Given the description of an element on the screen output the (x, y) to click on. 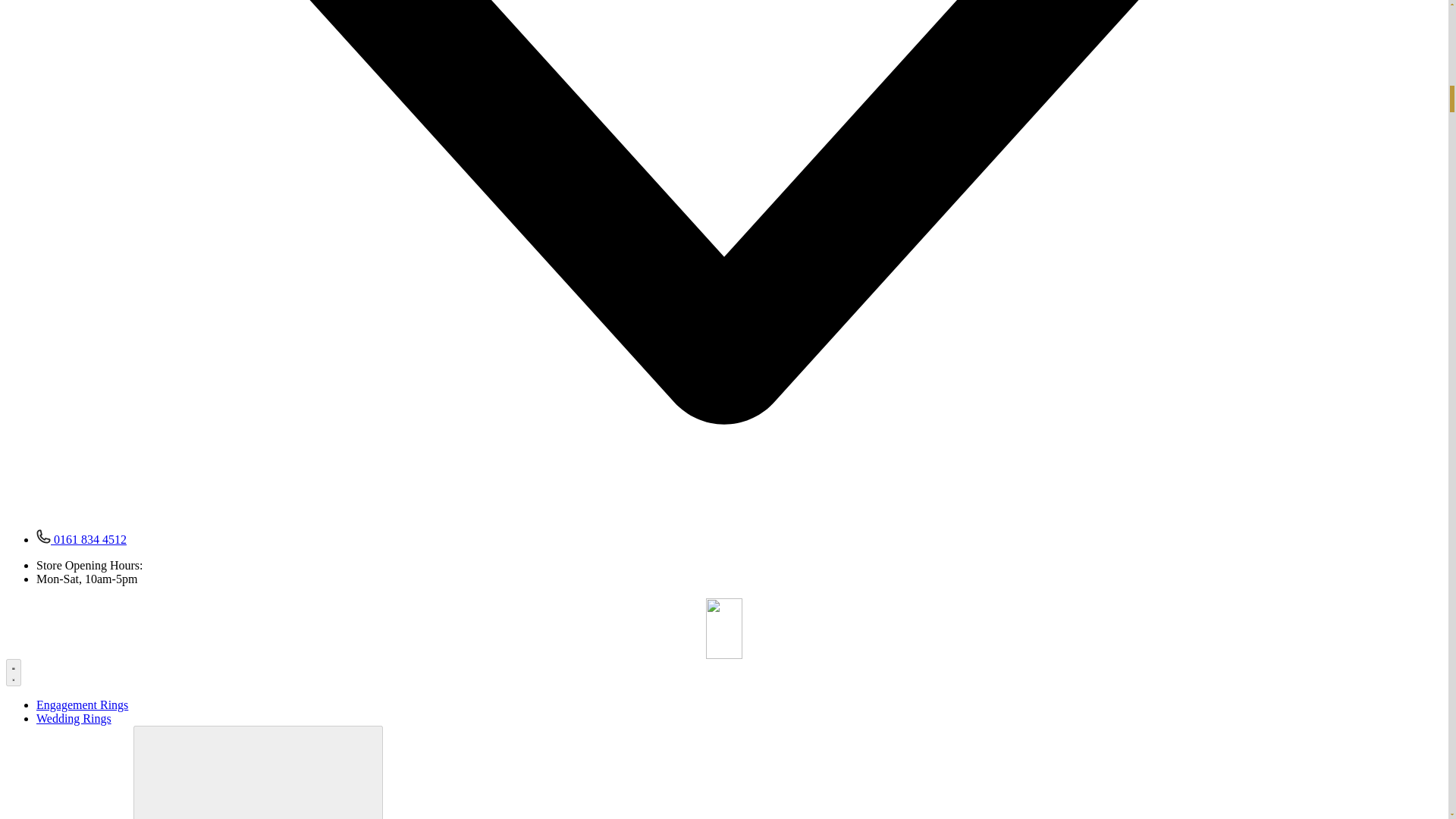
Close Women's Jewellery Open Women's Jewellery (257, 772)
Wedding Rings (74, 717)
Engagement Rings (82, 704)
0161 834 4512 (81, 539)
